Given the description of an element on the screen output the (x, y) to click on. 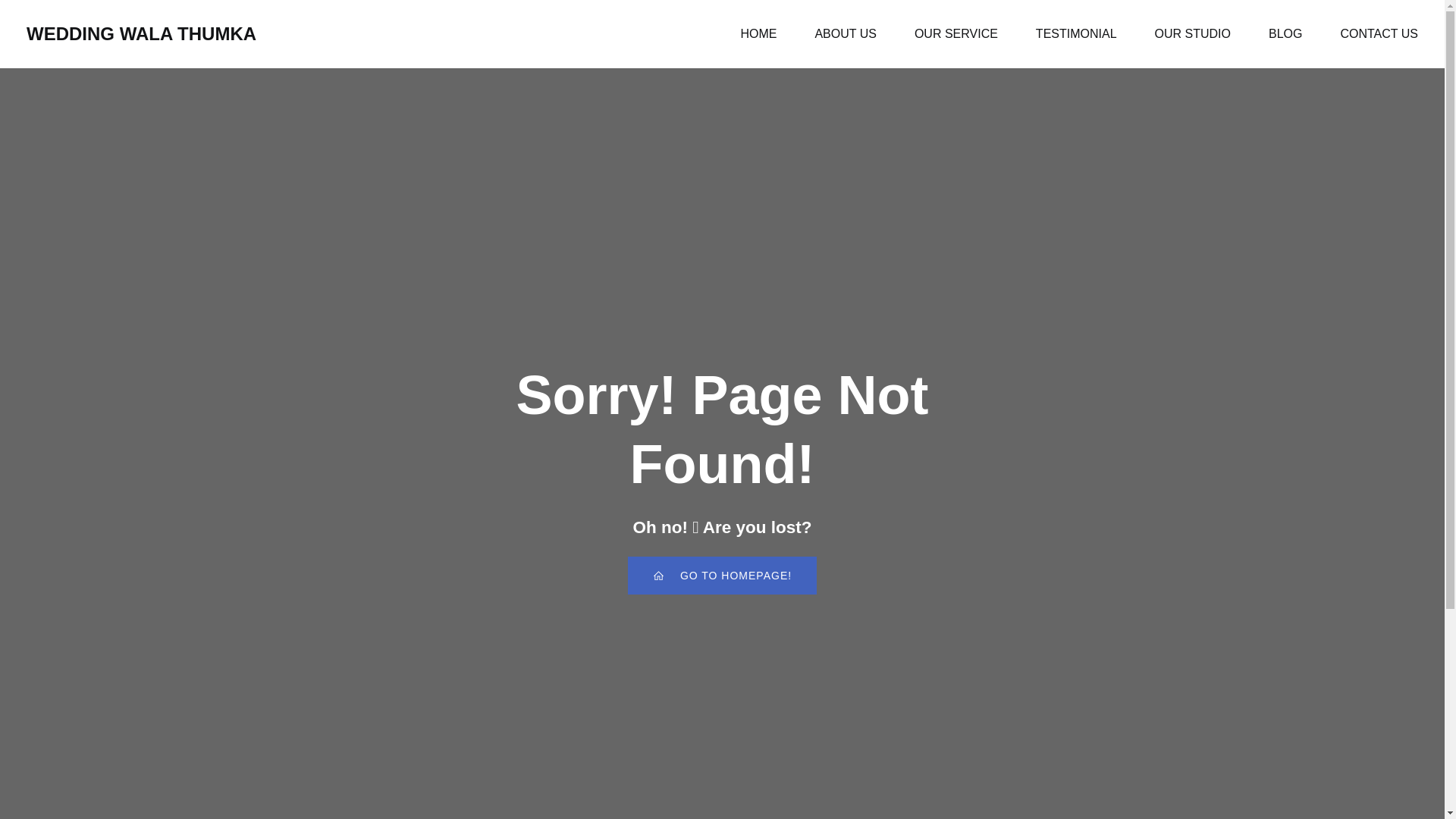
BLOG (1284, 33)
WEDDING WALA THUMKA (141, 33)
CONTACT US (1378, 33)
HOME (757, 33)
OUR STUDIO (1192, 33)
GO TO HOMEPAGE! (721, 575)
TESTIMONIAL (1075, 33)
ABOUT US (844, 33)
OUR SERVICE (955, 33)
